Given the description of an element on the screen output the (x, y) to click on. 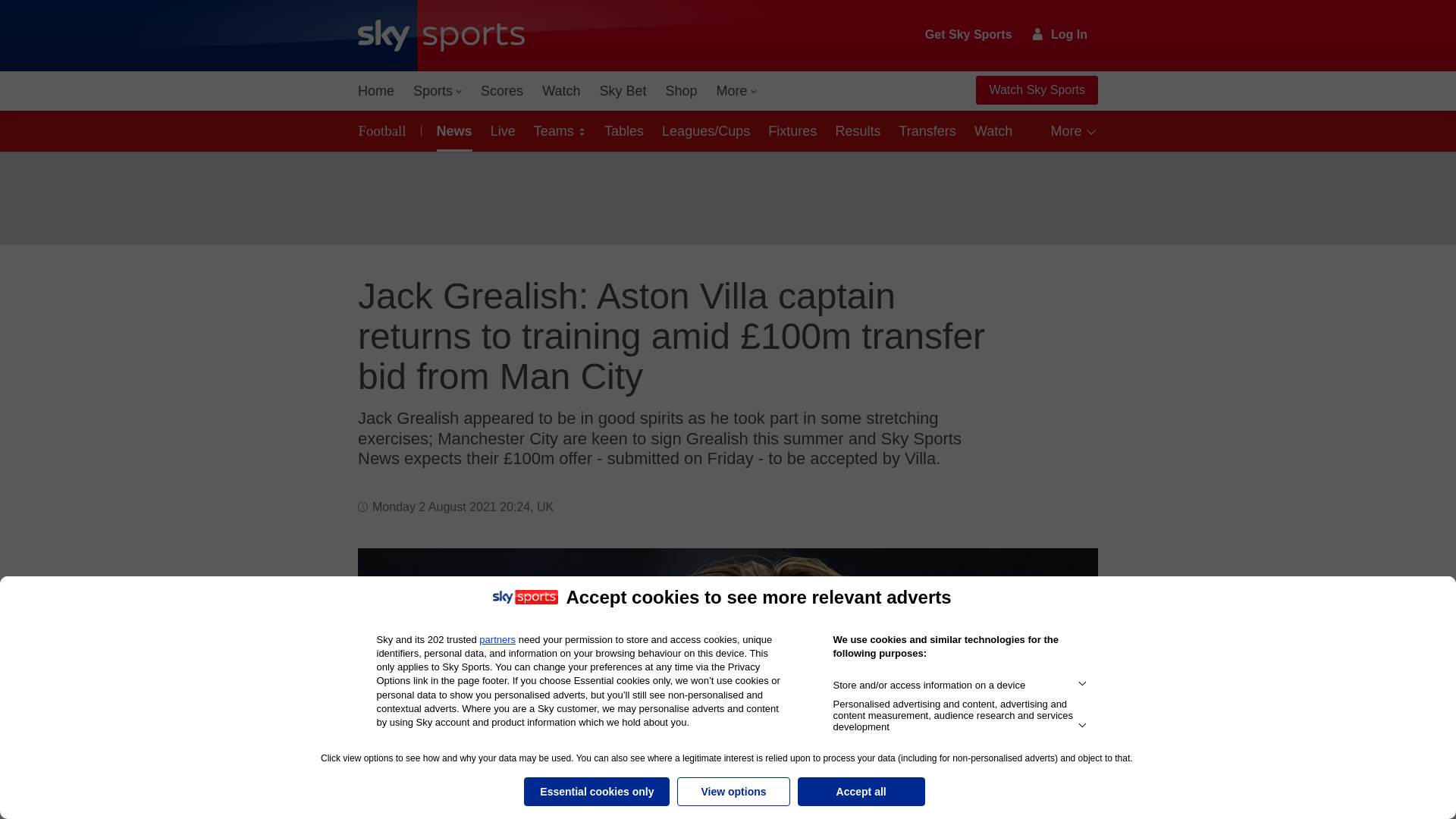
News (451, 130)
Get Sky Sports (968, 34)
Sky Bet (622, 91)
Log In (1060, 33)
Scores (502, 91)
Home (375, 91)
Shop (681, 91)
Watch Sky Sports (1036, 90)
Football (385, 130)
Watch (561, 91)
